Given the description of an element on the screen output the (x, y) to click on. 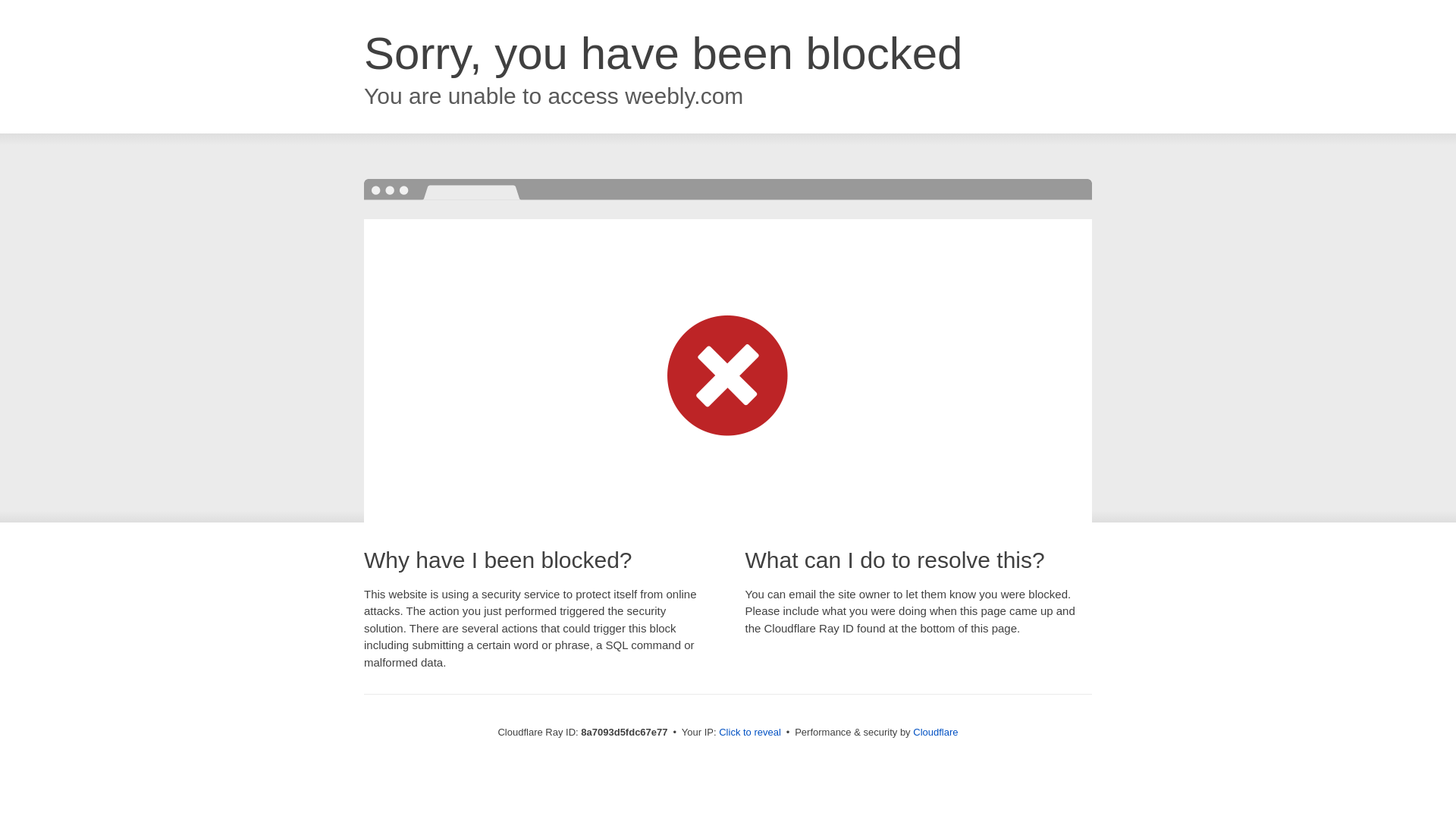
Click to reveal (749, 732)
Cloudflare (935, 731)
